Given the description of an element on the screen output the (x, y) to click on. 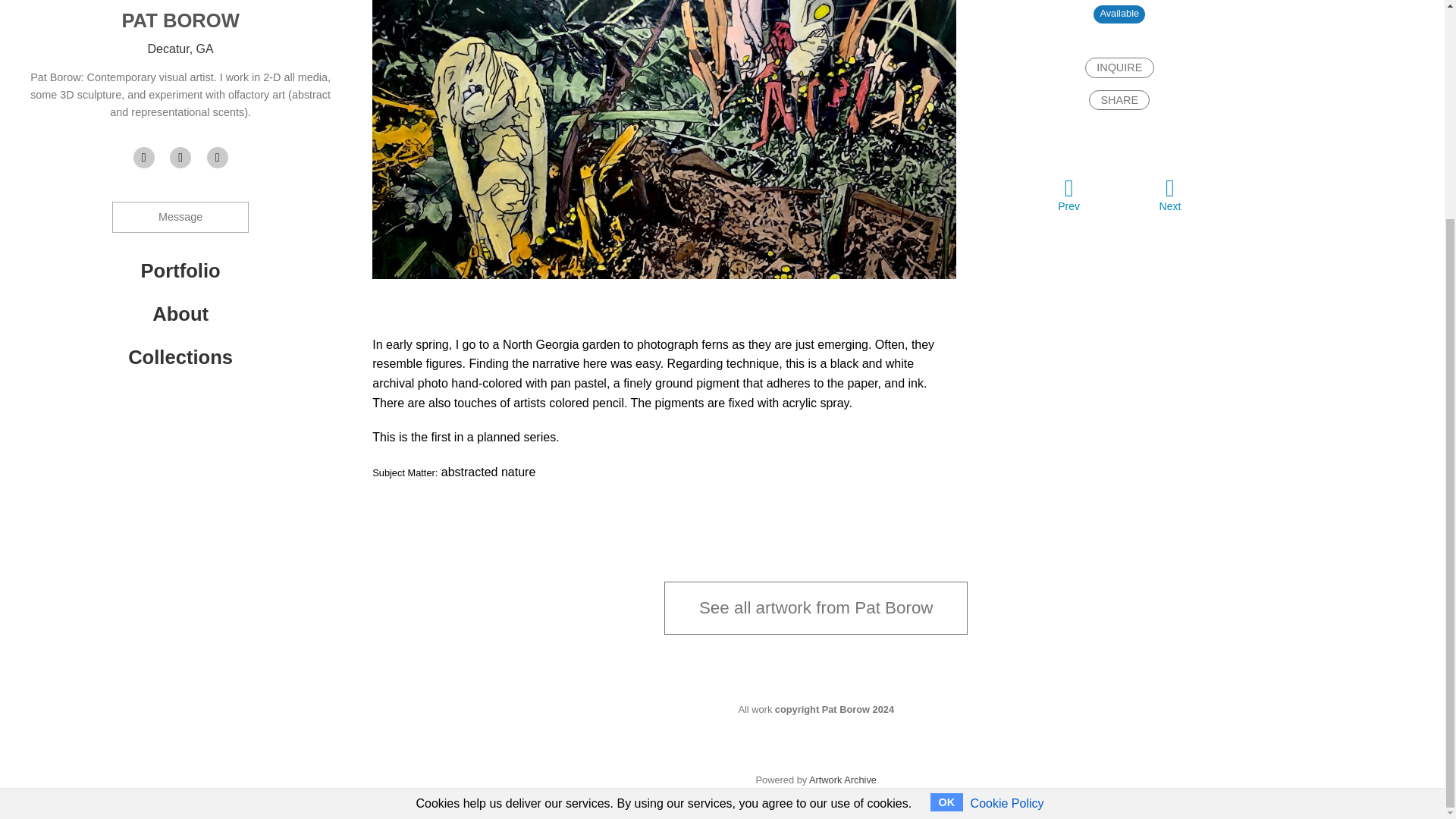
Prev (1068, 193)
Instagram (217, 157)
Message (180, 216)
About (180, 313)
See all artwork from Pat Borow (815, 607)
Website (143, 157)
Cookie Policy (1007, 513)
INQUIRE (1119, 66)
Artwork Archive (842, 779)
Facebook (180, 157)
